Given the description of an element on the screen output the (x, y) to click on. 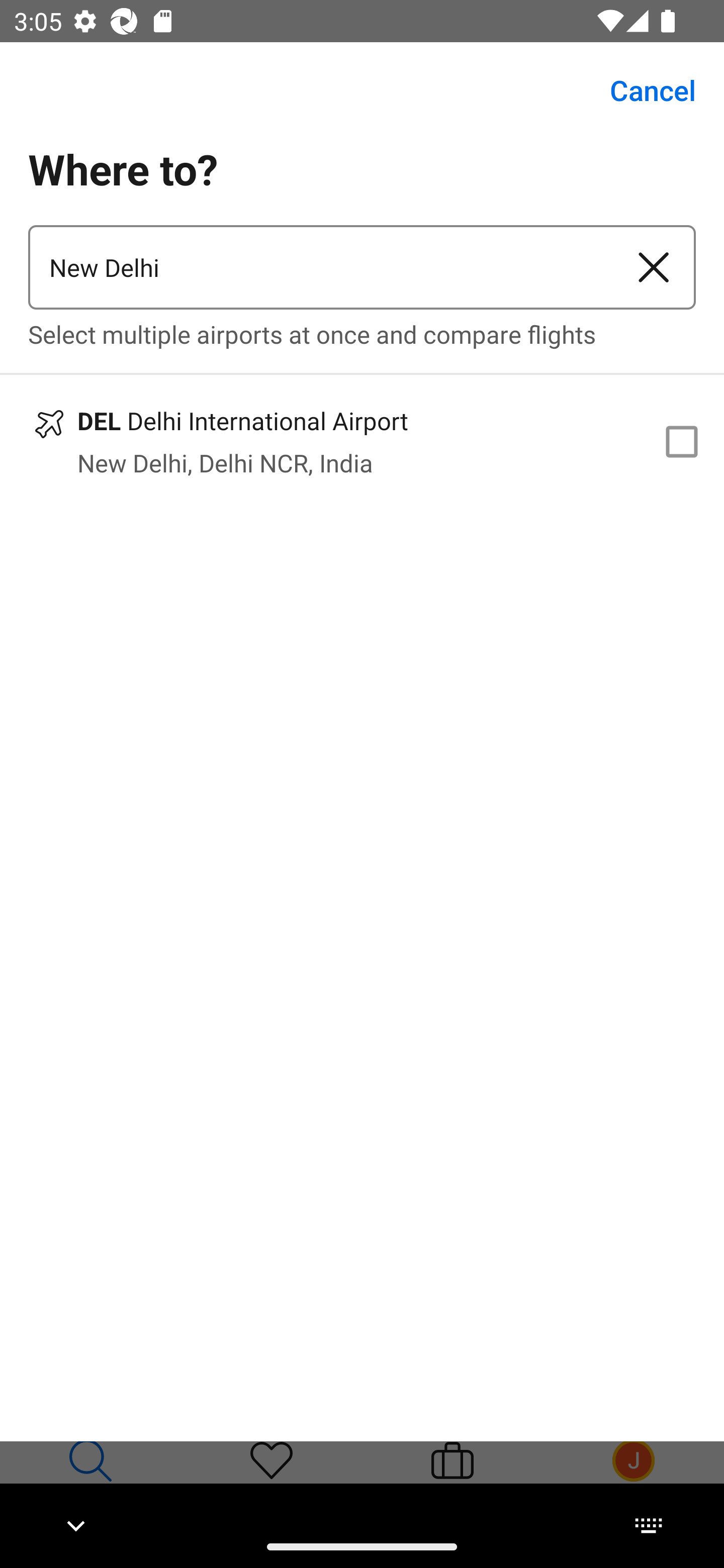
Cancel (641, 90)
New Delhi (319, 266)
Clear airport or city (653, 266)
